Given the description of an element on the screen output the (x, y) to click on. 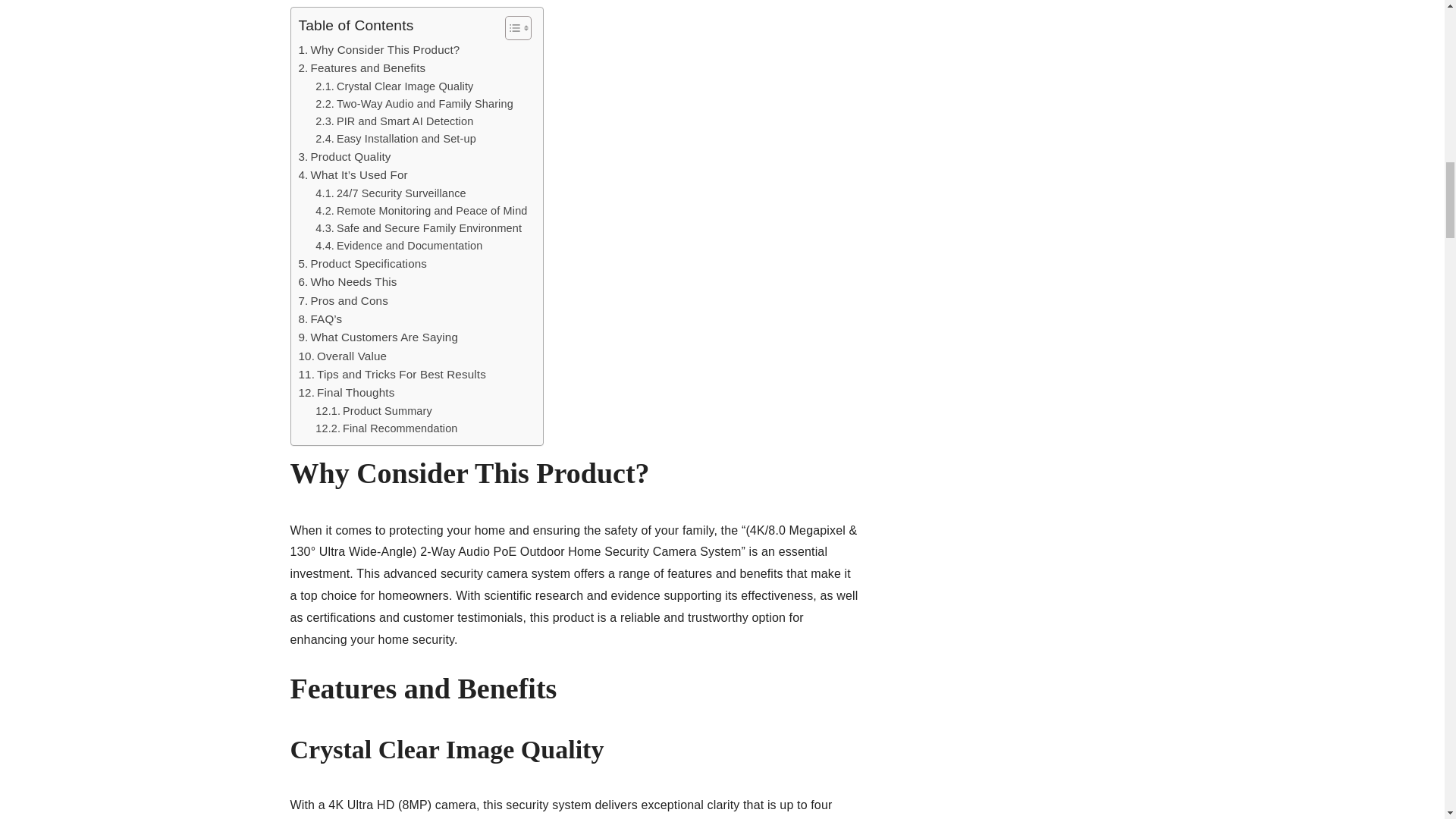
Crystal Clear Image Quality (394, 86)
Features and Benefits (362, 67)
Evidence and Documentation (398, 245)
Why Consider This Product? (379, 49)
Two-Way Audio and Family Sharing (414, 104)
Safe and Secure Family Environment (418, 228)
Final Thoughts (346, 393)
Tips and Tricks For Best Results (392, 374)
Two-Way Audio and Family Sharing (414, 104)
Why Consider This Product? (379, 49)
